Given the description of an element on the screen output the (x, y) to click on. 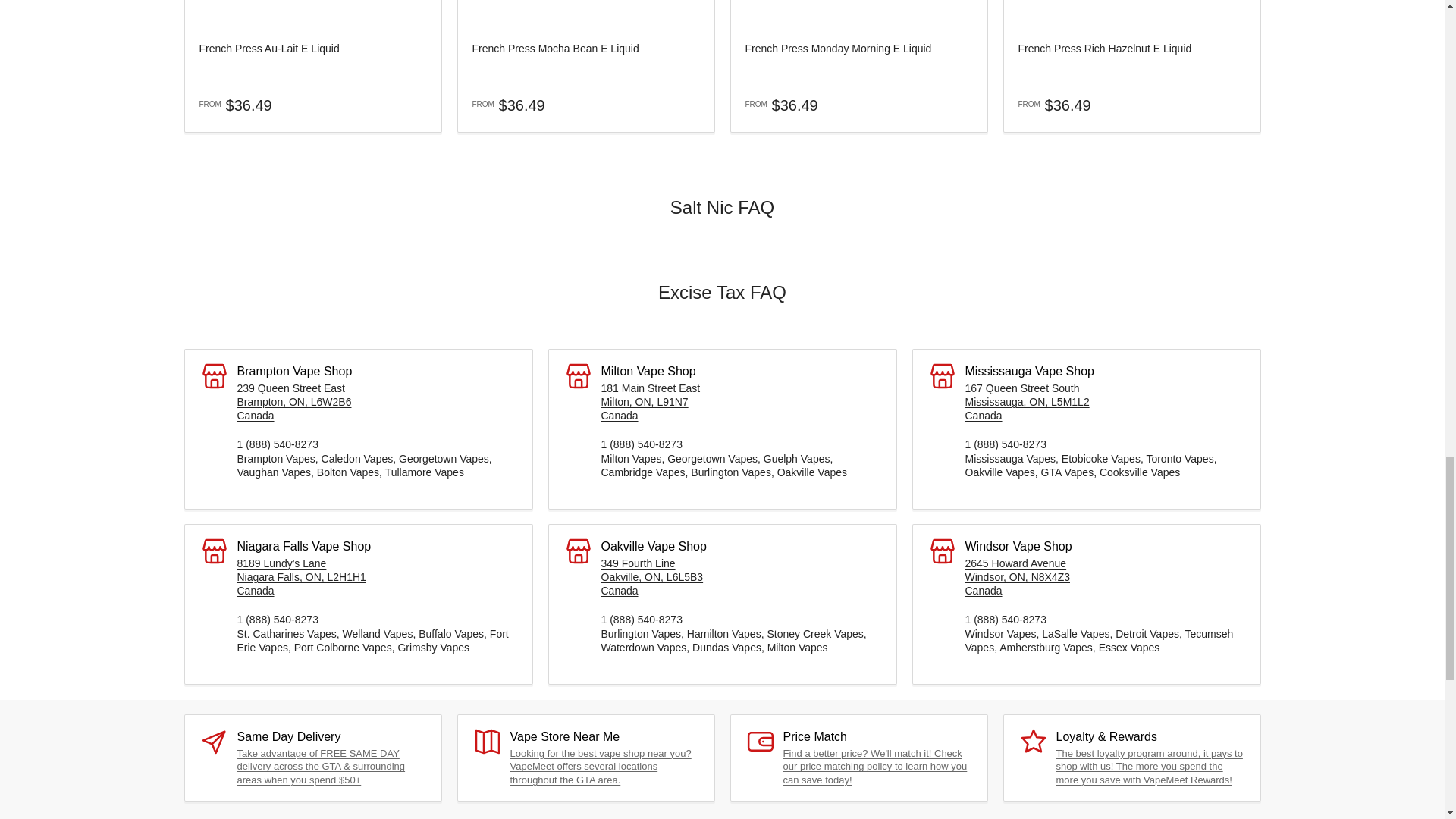
Vape Store Near Me (599, 766)
Windsor Vape Shop E-Cigarette E-Liquid Stores (1016, 577)
Shipping Policy (319, 766)
VapeMeet Oakville - The best vape store in Oakville (651, 577)
VapeMeet Mississauga - The Best Vape Store in Mississauga (1026, 401)
VapeMeet Milton, 181 Main St E unit 5, Milton, ON L9T 1N7 (649, 401)
Price Match Policy (874, 766)
Brampton Vape Store E-cigarette E-Liquid Stores (292, 401)
